Given the description of an element on the screen output the (x, y) to click on. 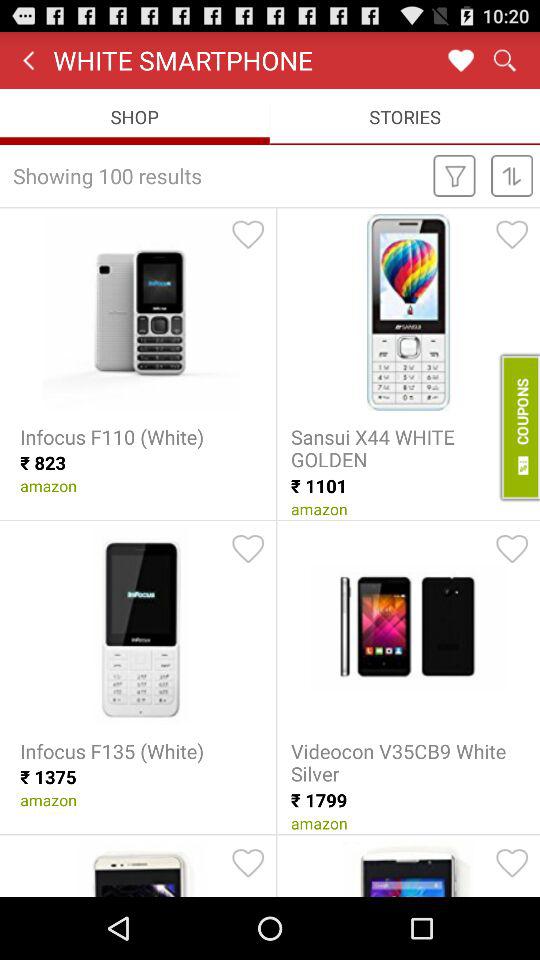
to mark it favorite (248, 863)
